Given the description of an element on the screen output the (x, y) to click on. 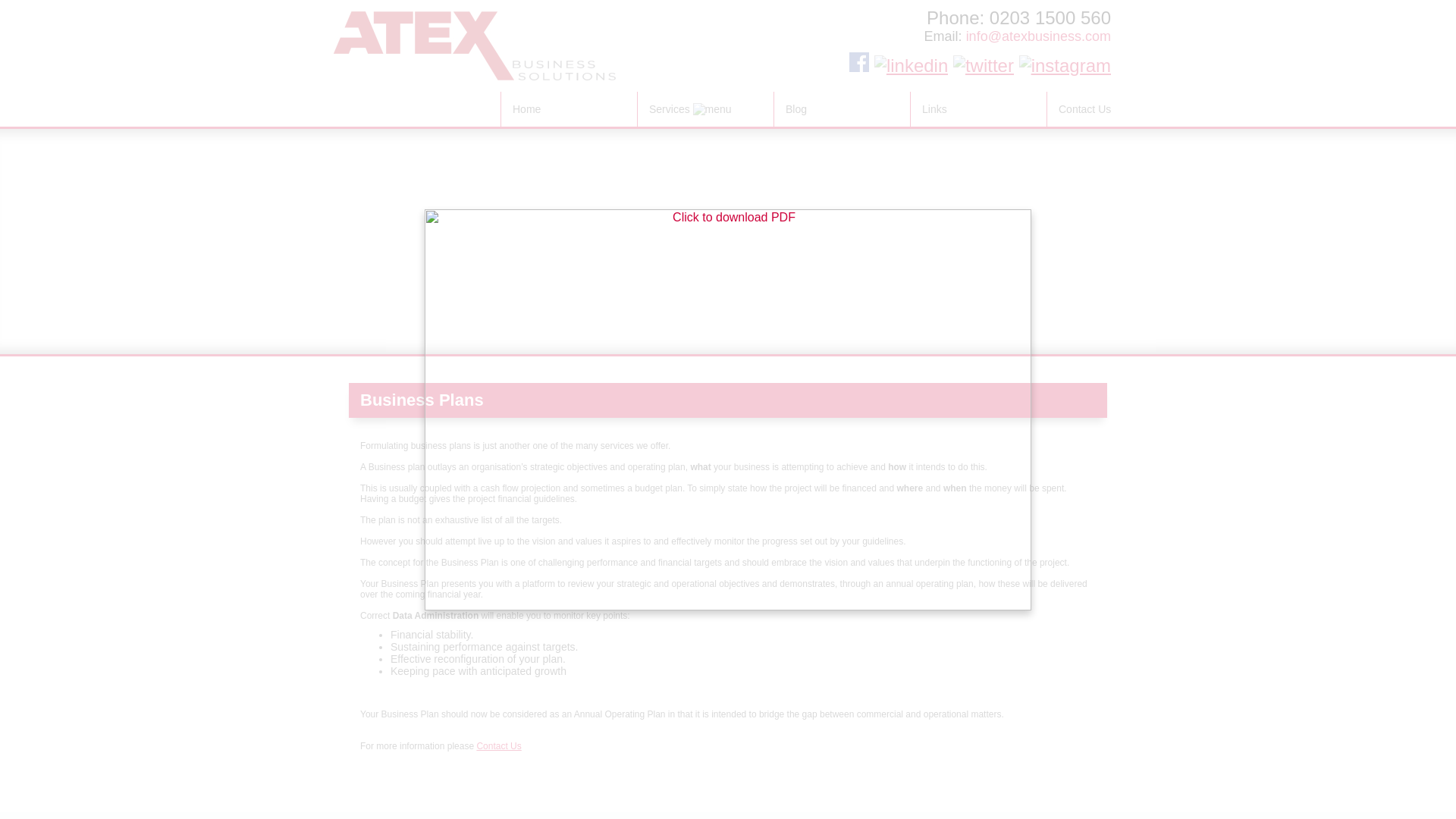
Blog (841, 108)
Contact Us (498, 746)
Contact Us (498, 746)
Contact Us (1114, 108)
Blog (841, 108)
Contact Us (1114, 108)
Home (568, 108)
Links (978, 108)
Home (568, 108)
Links (978, 108)
